Given the description of an element on the screen output the (x, y) to click on. 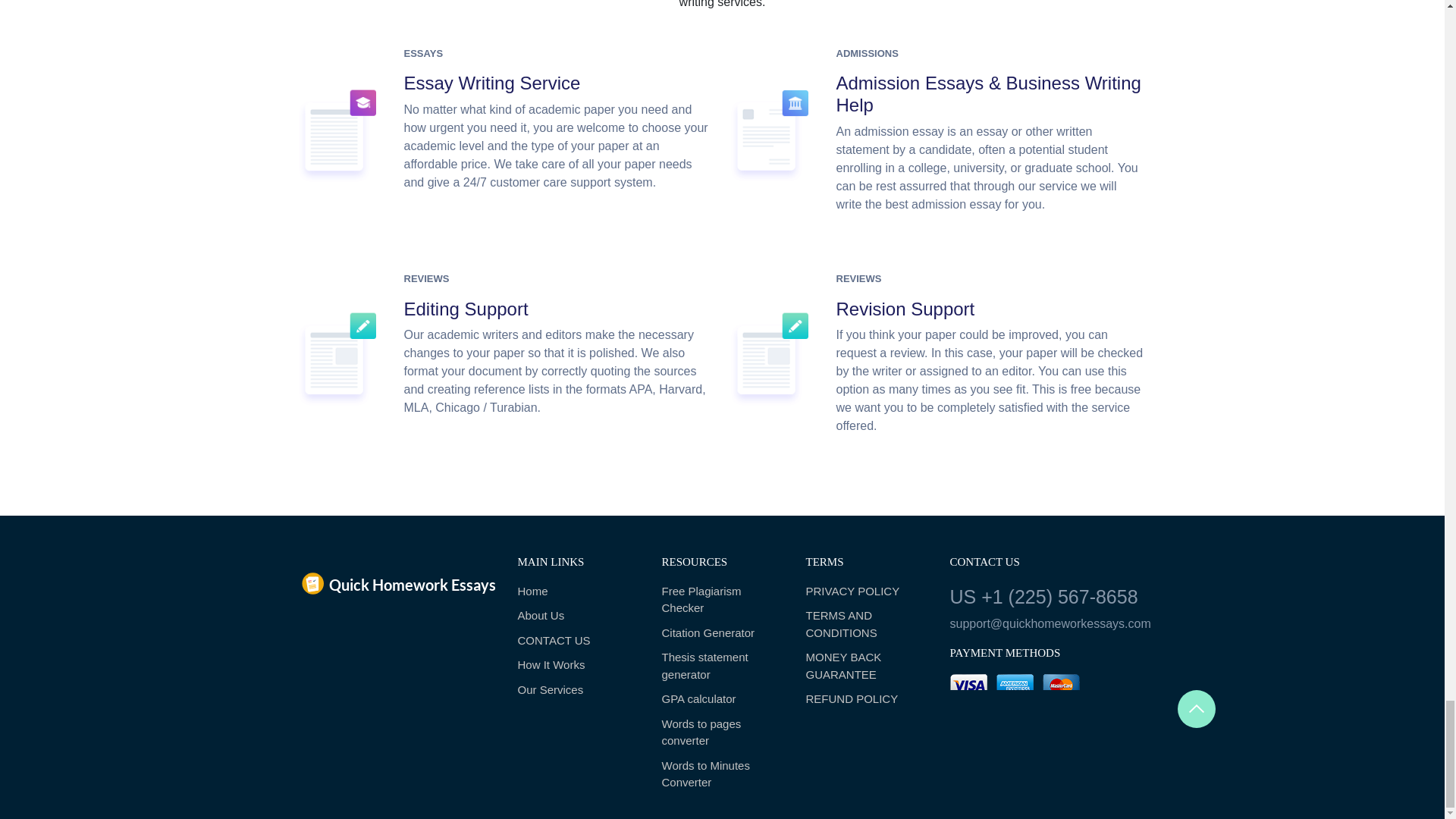
GPA calculator (722, 699)
CONTACT US (577, 641)
Free Plagiarism Checker (722, 600)
Words to pages converter (722, 732)
TERMS AND CONDITIONS (865, 624)
REFUND POLICY (865, 699)
Home (577, 591)
About Us (577, 615)
PRIVACY POLICY (865, 591)
About Us (577, 615)
